Given the description of an element on the screen output the (x, y) to click on. 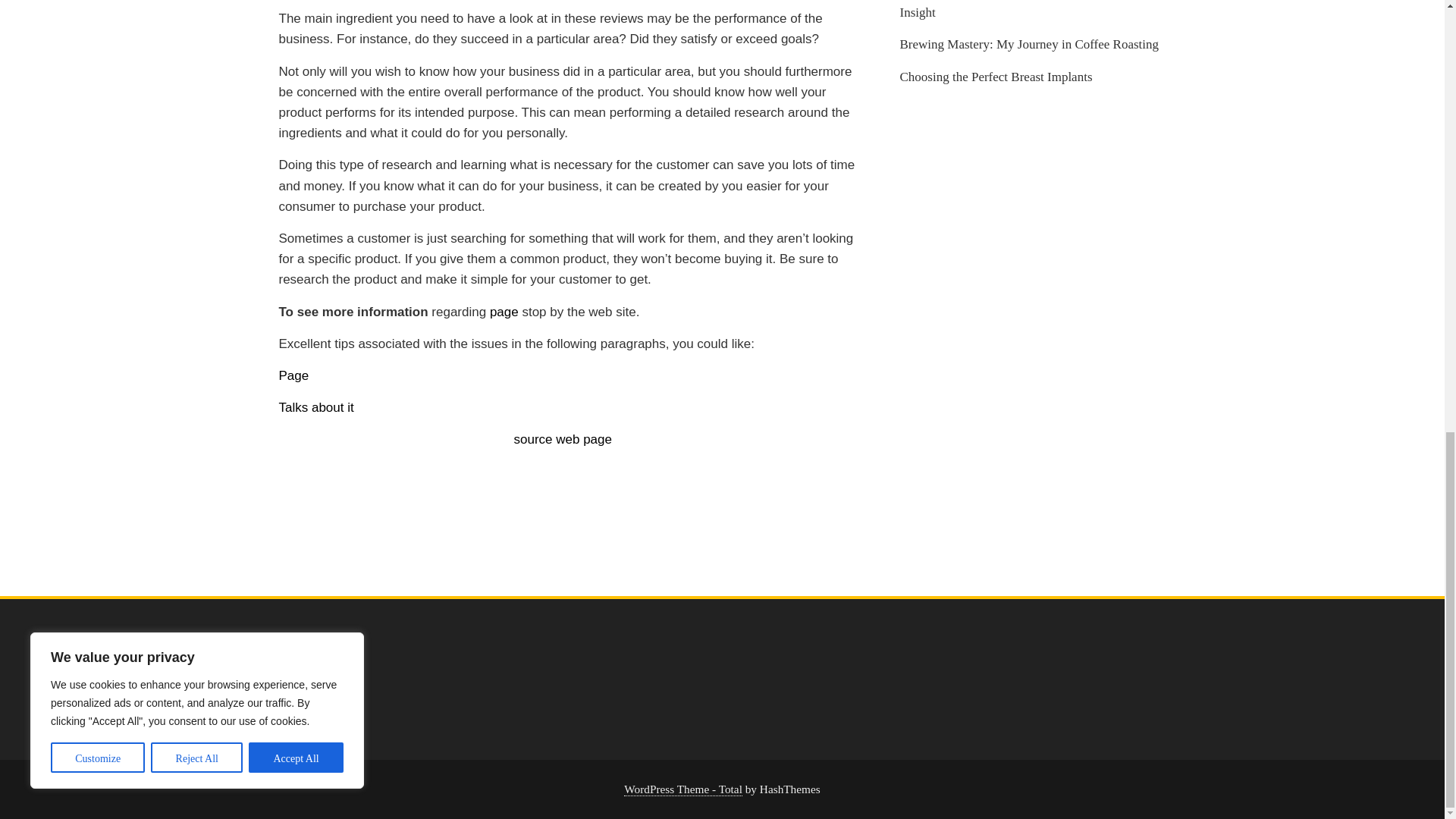
page (503, 311)
source web page (562, 439)
Page (293, 375)
Talks about it (316, 407)
